Given the description of an element on the screen output the (x, y) to click on. 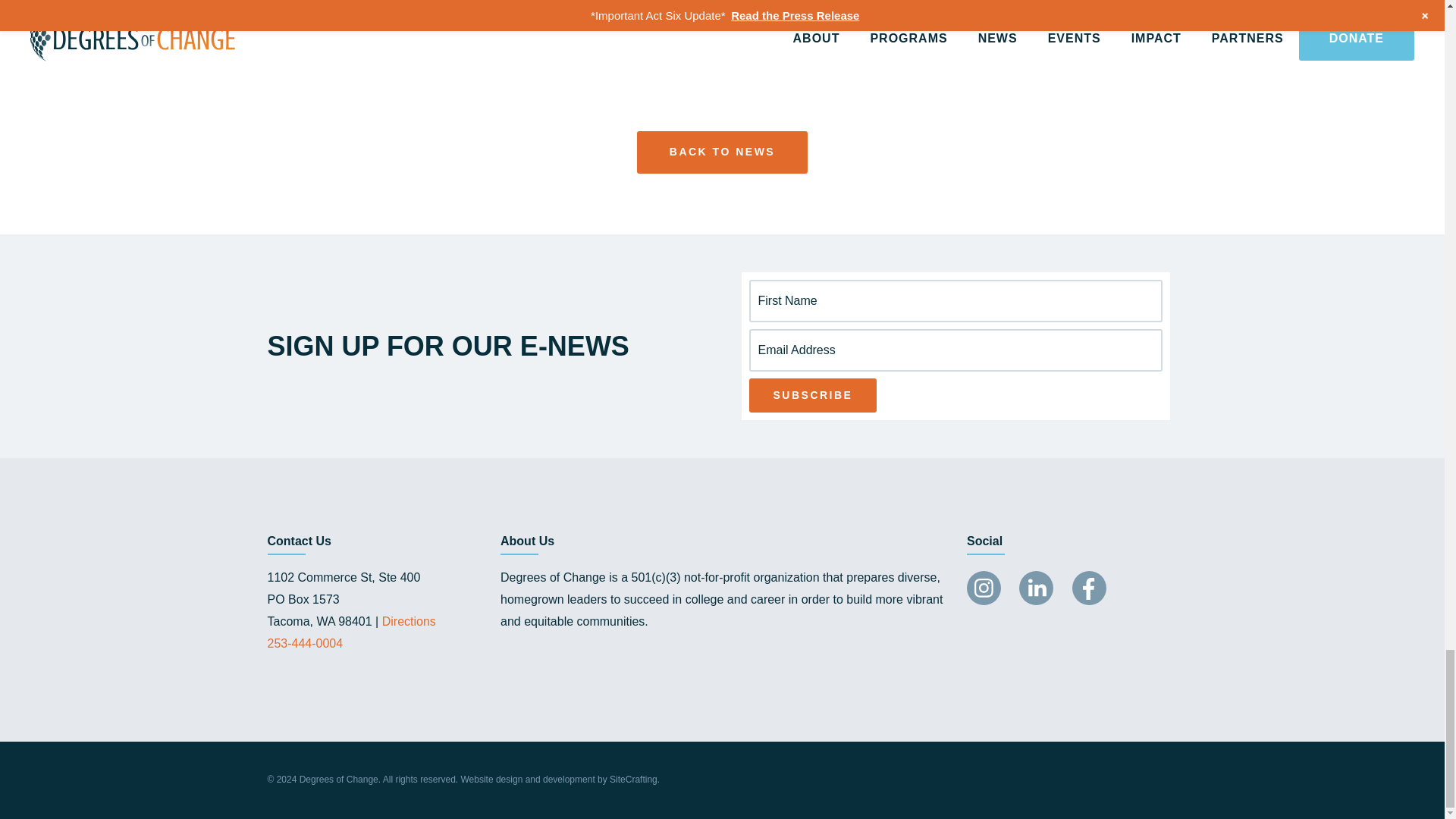
Instagram (983, 587)
BACK TO NEWS (722, 151)
Facebook (1088, 587)
LinkedIn (1035, 587)
Subscribe (813, 395)
